Given the description of an element on the screen output the (x, y) to click on. 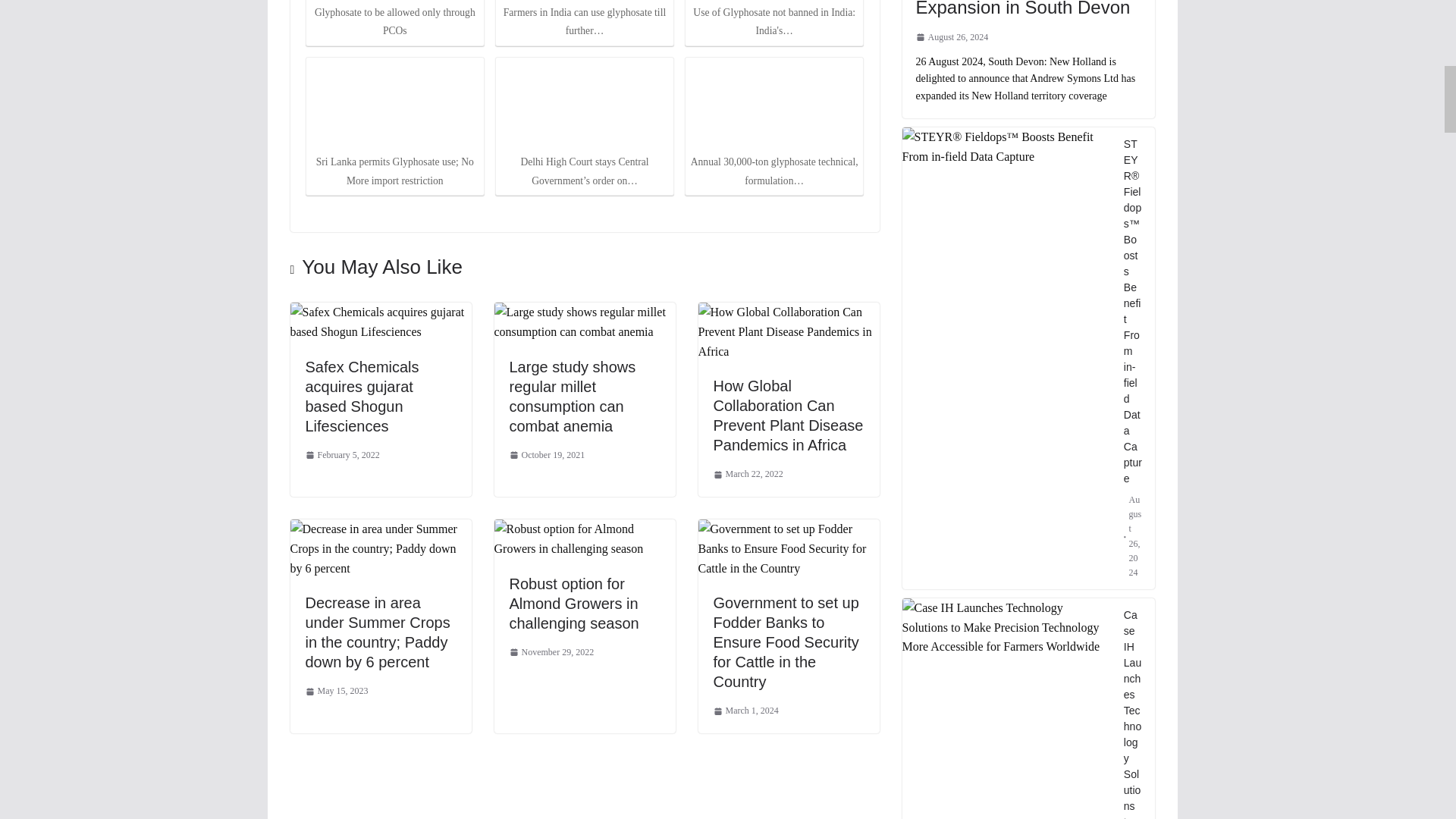
Sri Lanka permits Glyphosate use; No More import restriction (394, 104)
